Given the description of an element on the screen output the (x, y) to click on. 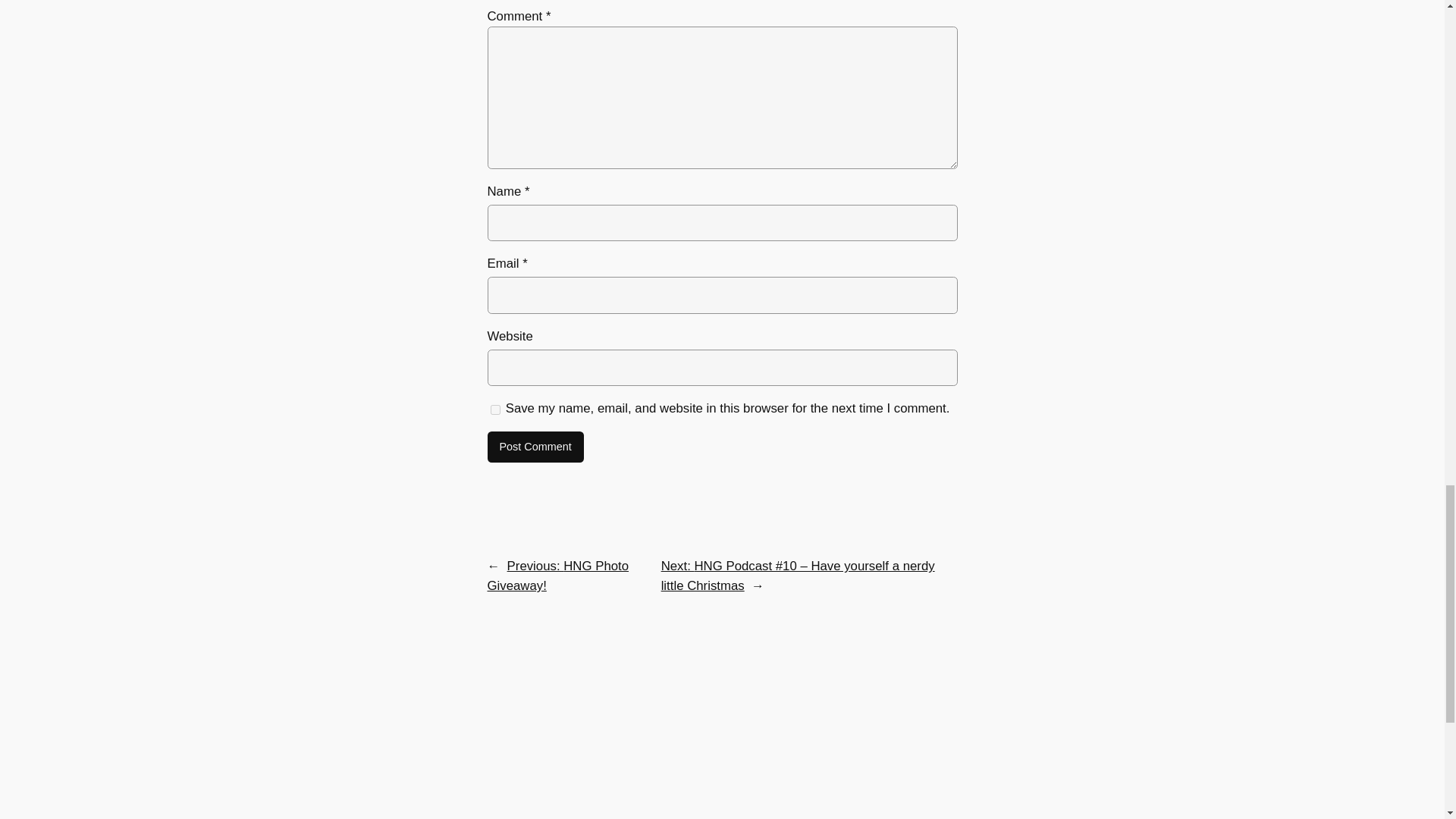
Post Comment (534, 447)
Previous: HNG Photo Giveaway! (557, 575)
Post Comment (534, 447)
